Given the description of an element on the screen output the (x, y) to click on. 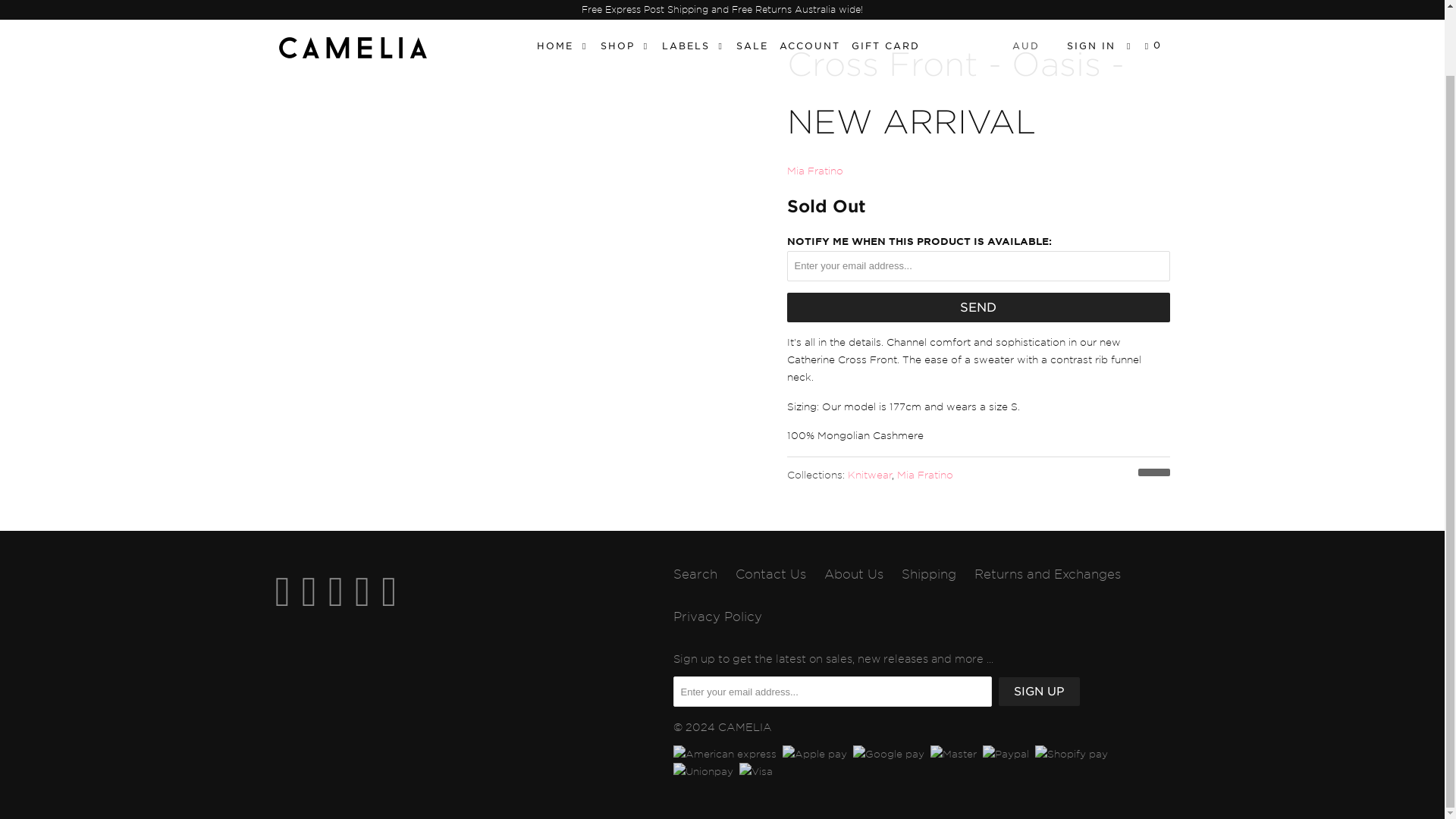
Send (978, 307)
Sign Up (1037, 691)
Knitwear (869, 474)
Mia Fratino (815, 170)
Mia Fratino (924, 474)
